Given the description of an element on the screen output the (x, y) to click on. 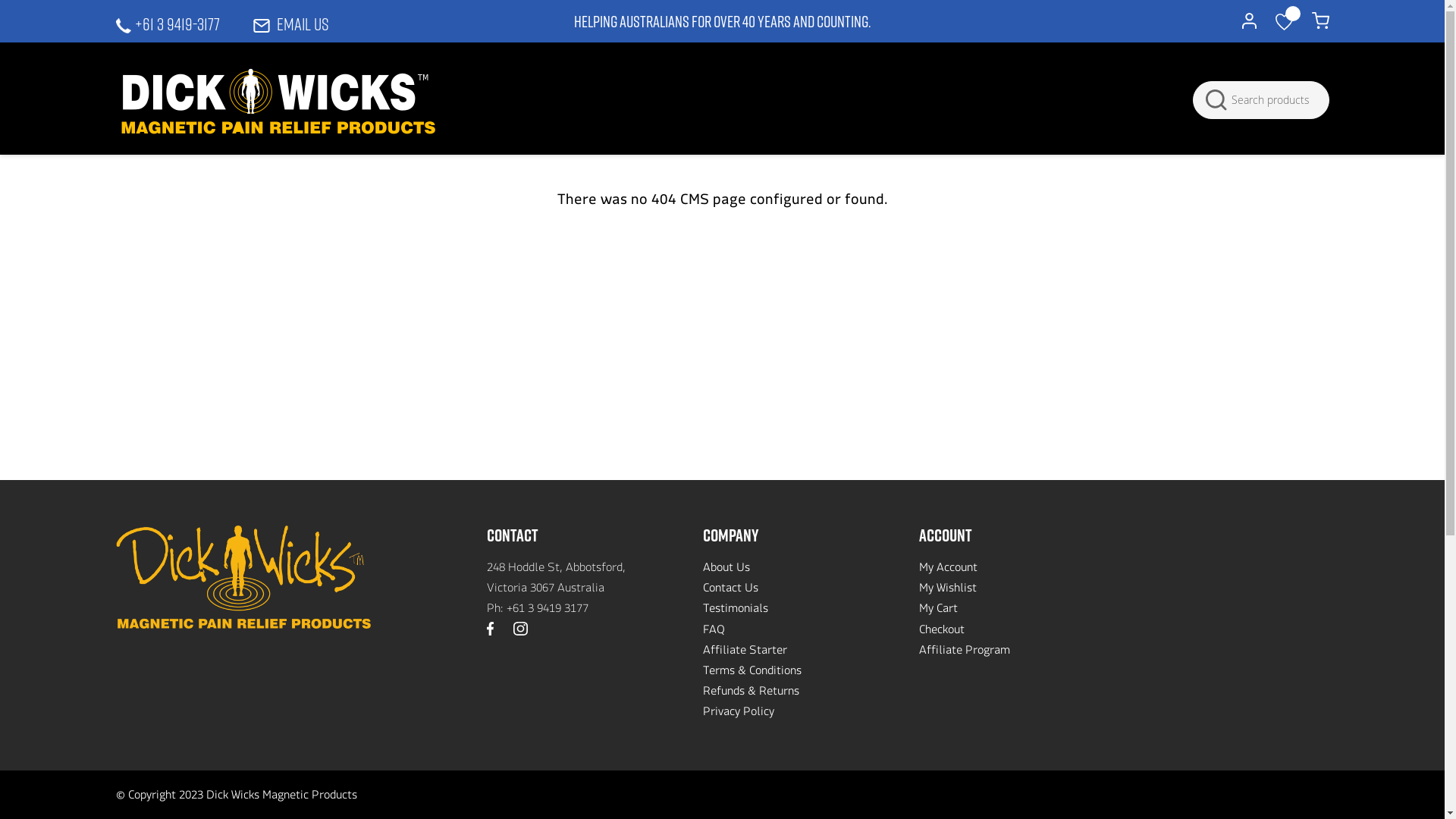
My Wish List Element type: text (1283, 21)
About Us Element type: text (725, 569)
EMAIL US Element type: text (291, 23)
Affiliate Starter Element type: text (744, 652)
Refunds & Returns Element type: text (750, 693)
Dick Wicks Element type: hover (277, 101)
My Cart Element type: text (1320, 21)
Terms & Conditions Element type: text (751, 672)
+61 3 9419 3177 Element type: text (547, 610)
FAQ Element type: text (713, 631)
Affiliate Program Element type: text (964, 652)
Testimonials Element type: text (735, 610)
Contact Us Element type: text (730, 590)
My Account Element type: text (948, 569)
Search Element type: text (1212, 99)
Checkout Element type: text (941, 631)
My Cart Element type: text (938, 610)
+61 3 9419-3177 Element type: text (167, 23)
Privacy Policy Element type: text (738, 713)
My Wishlist Element type: text (947, 590)
